Given the description of an element on the screen output the (x, y) to click on. 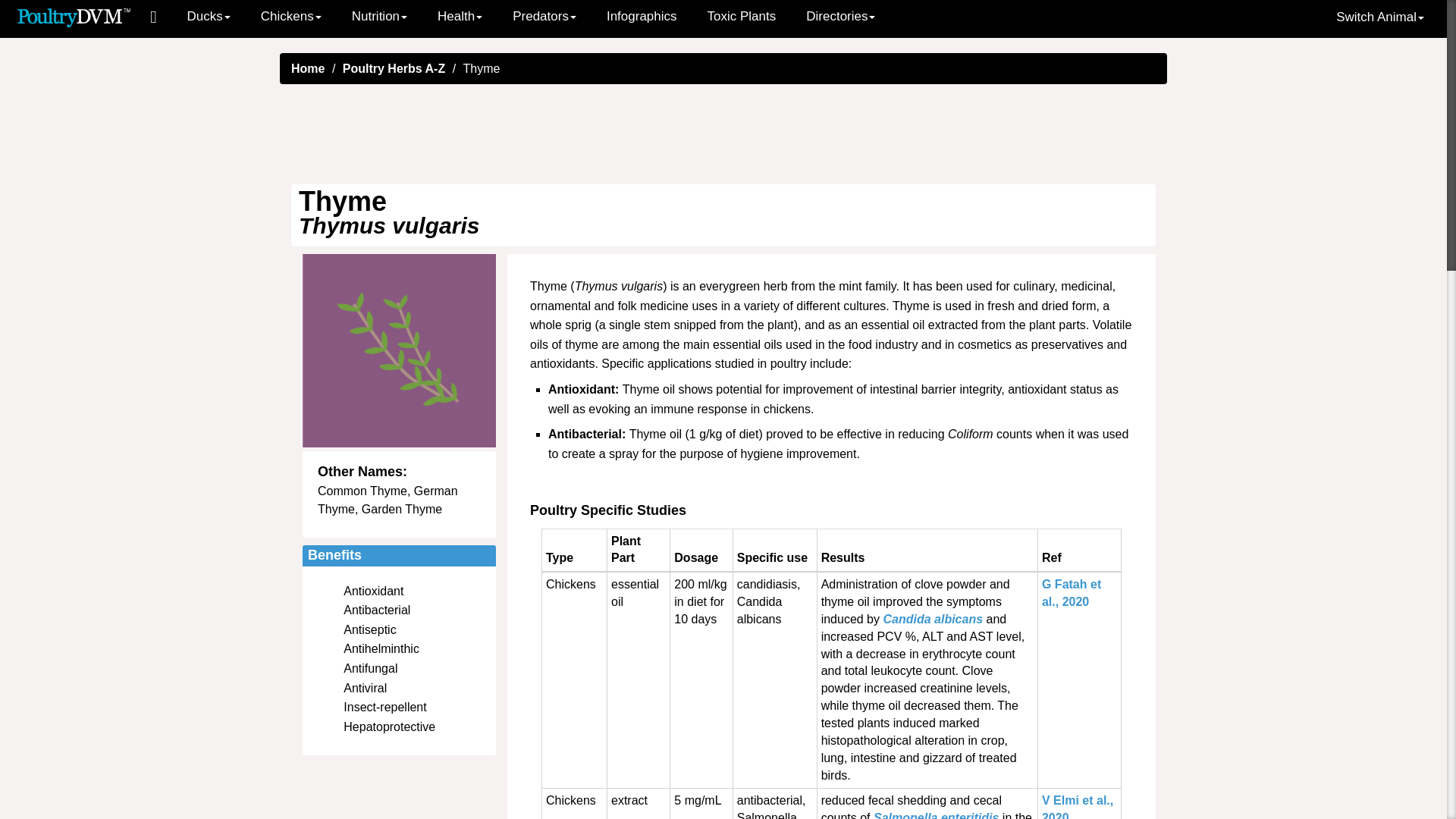
Directories (839, 16)
Health (459, 16)
Candida albicans (932, 618)
Salmonella enteritidis (935, 815)
Poultry Herbs A-Z (393, 68)
Toxic Plants (742, 16)
Ducks (208, 16)
Chicken and Duck Infographics (642, 16)
Toxic Plants to Chickens (742, 16)
Predators (544, 16)
